Given the description of an element on the screen output the (x, y) to click on. 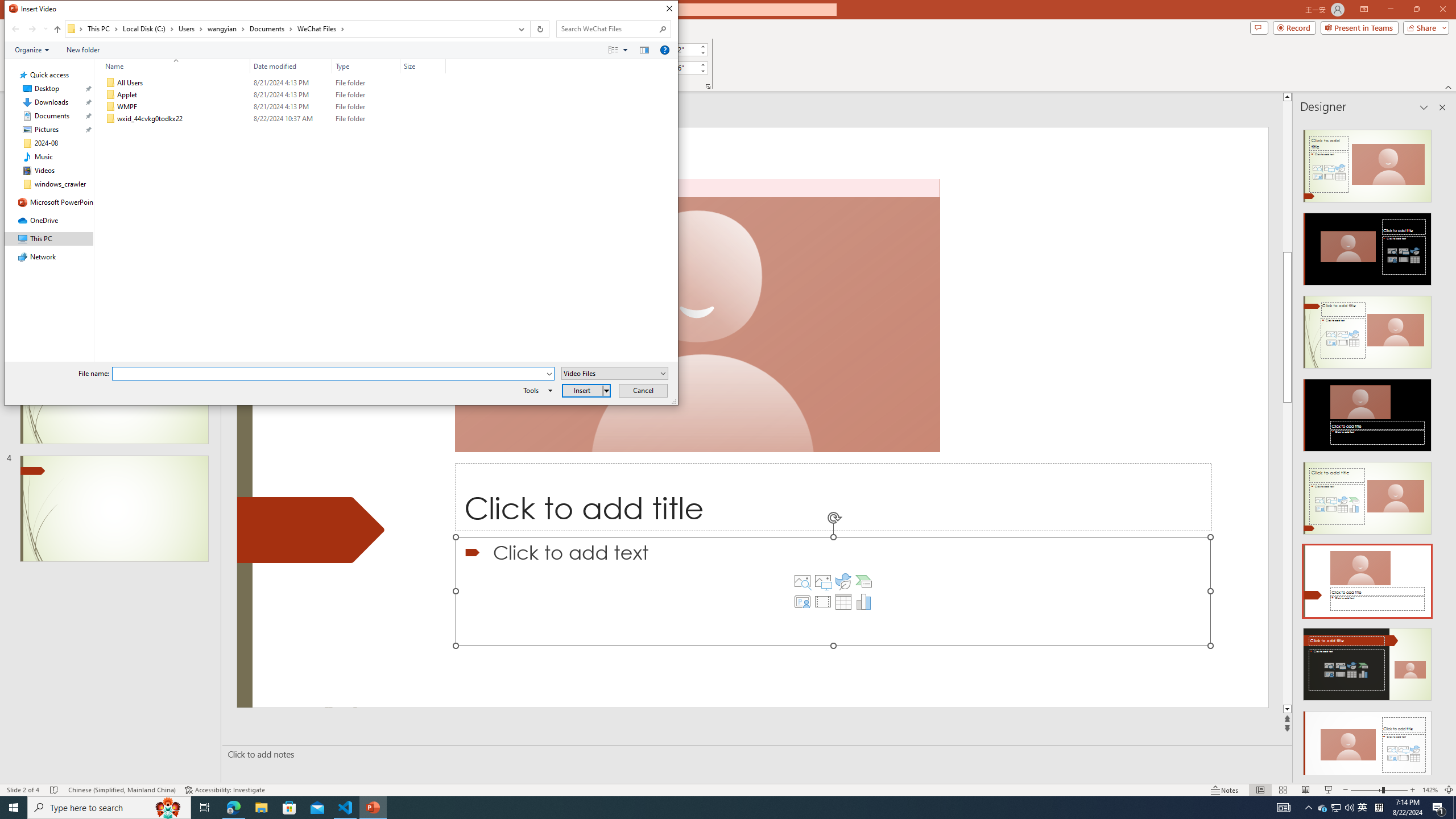
Open (663, 373)
Address: C:\Users\wangyian\Documents\WeChat Files (288, 28)
Search (663, 28)
Task View (204, 807)
Refresh "WeChat Files" (F5) (538, 28)
Notification Chevron (1308, 807)
Q2790: 100% (1349, 807)
Insert a SmartArt Graphic (863, 581)
Views (620, 49)
Search Box (607, 28)
Up band toolbar (57, 30)
Insert Cameo (801, 601)
Size (422, 65)
